Given the description of an element on the screen output the (x, y) to click on. 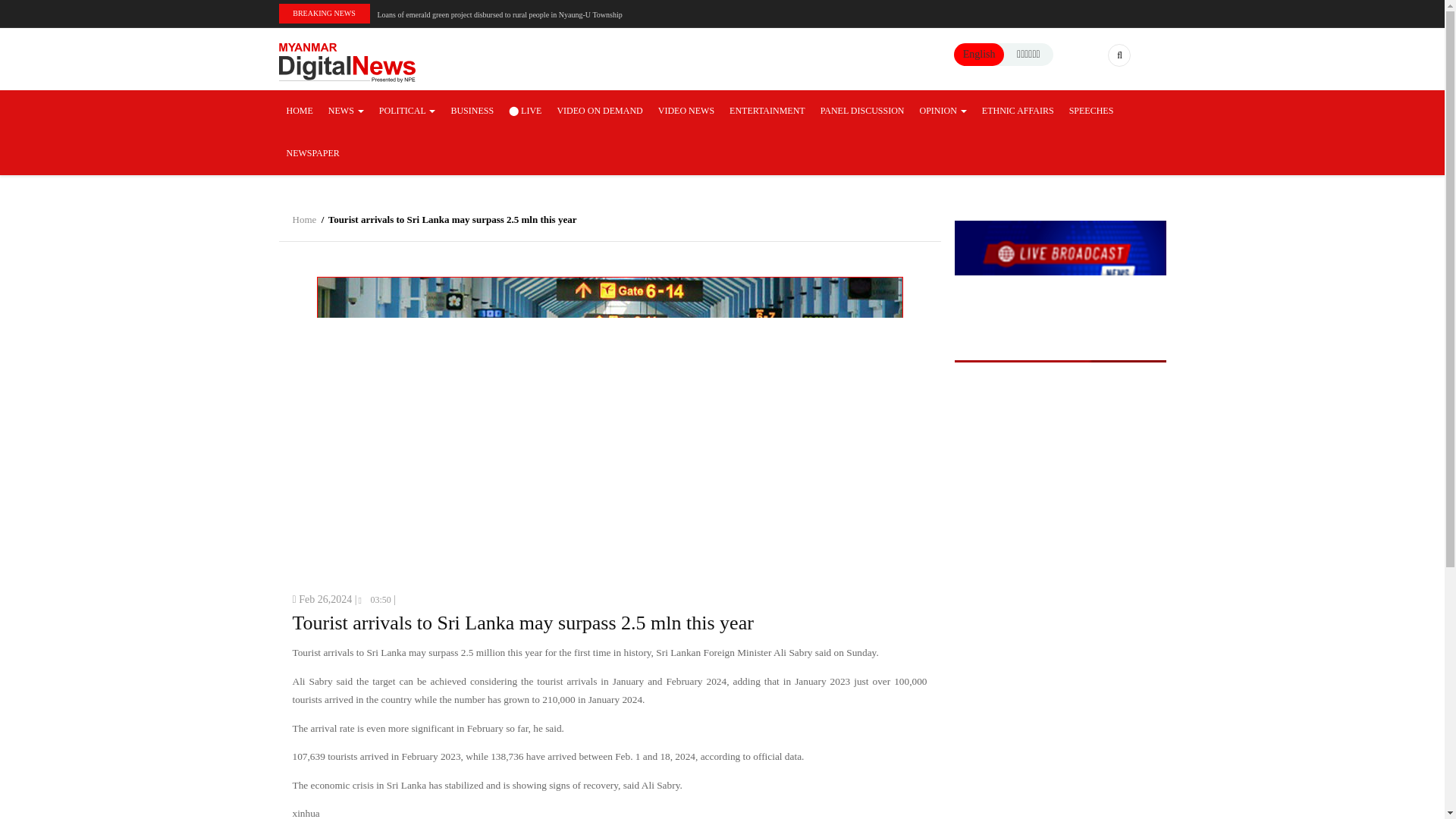
NEWS (345, 111)
Home (346, 61)
English (978, 53)
HOME (299, 111)
Search (1051, 117)
POLITICAL (407, 111)
